Given the description of an element on the screen output the (x, y) to click on. 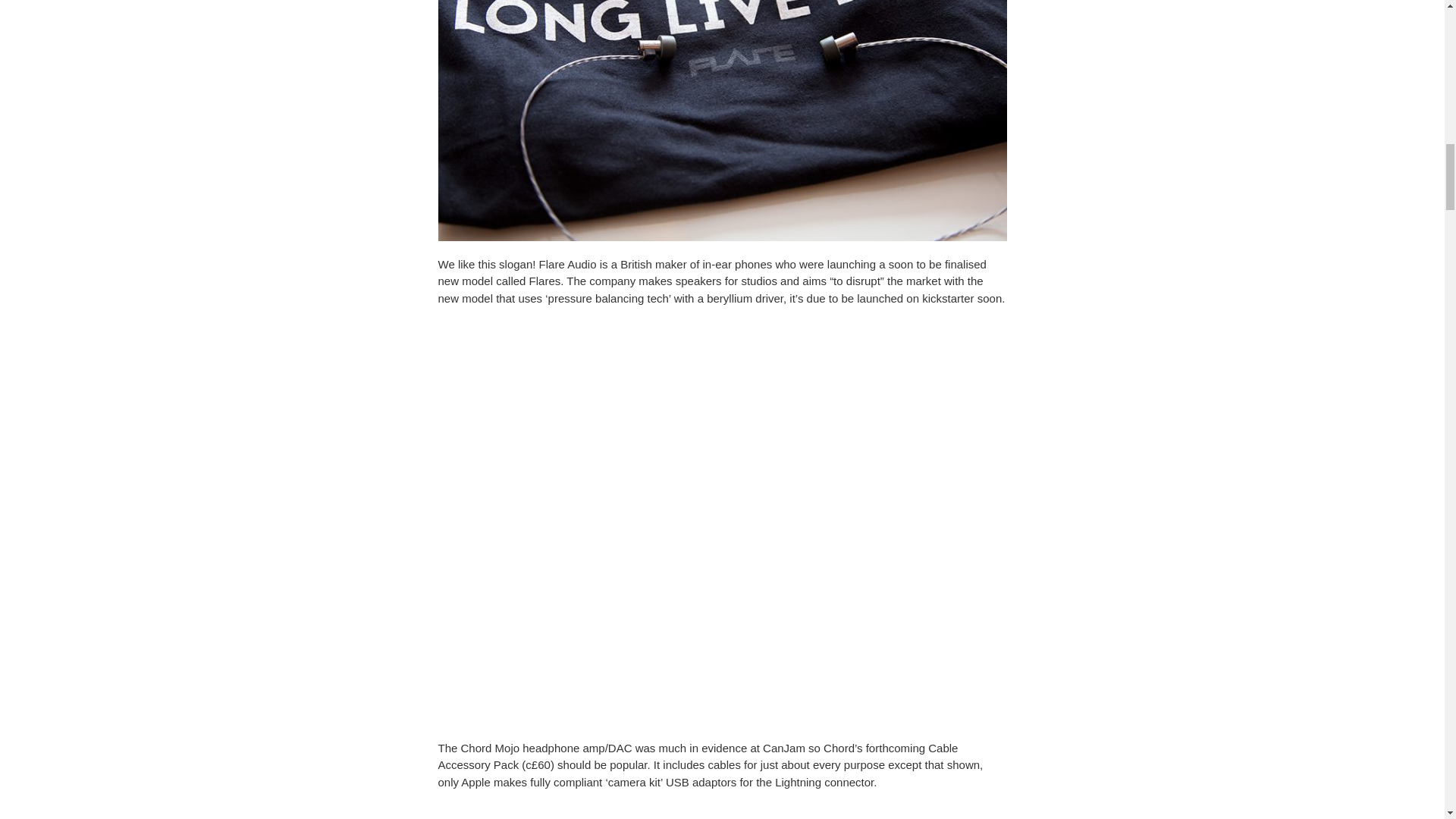
CanJam London 2016 5 (722, 812)
kickstarter (947, 297)
Mojo (508, 748)
